Given the description of an element on the screen output the (x, y) to click on. 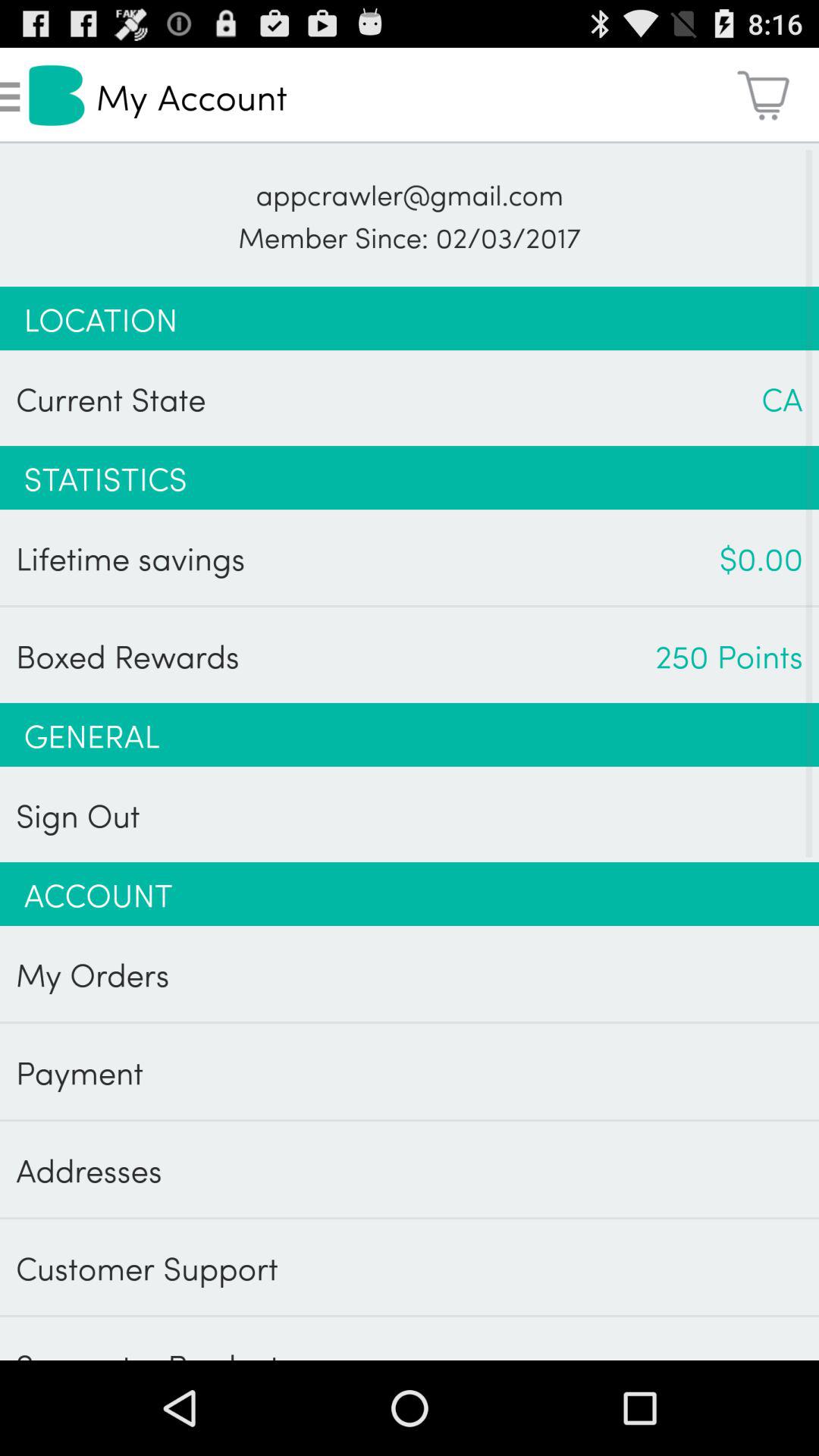
flip until location app (409, 318)
